Given the description of an element on the screen output the (x, y) to click on. 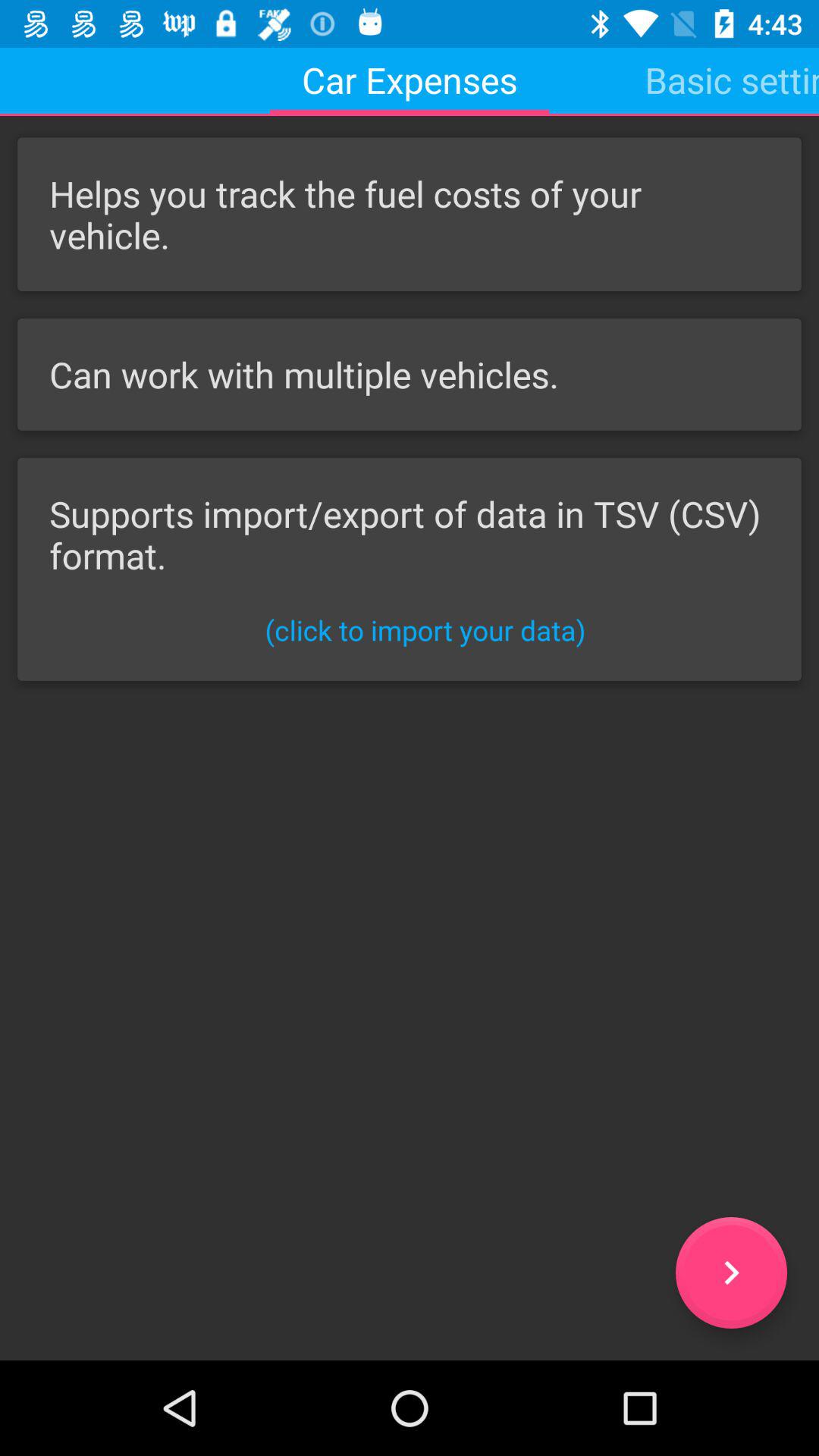
choose click to import icon (425, 629)
